Given the description of an element on the screen output the (x, y) to click on. 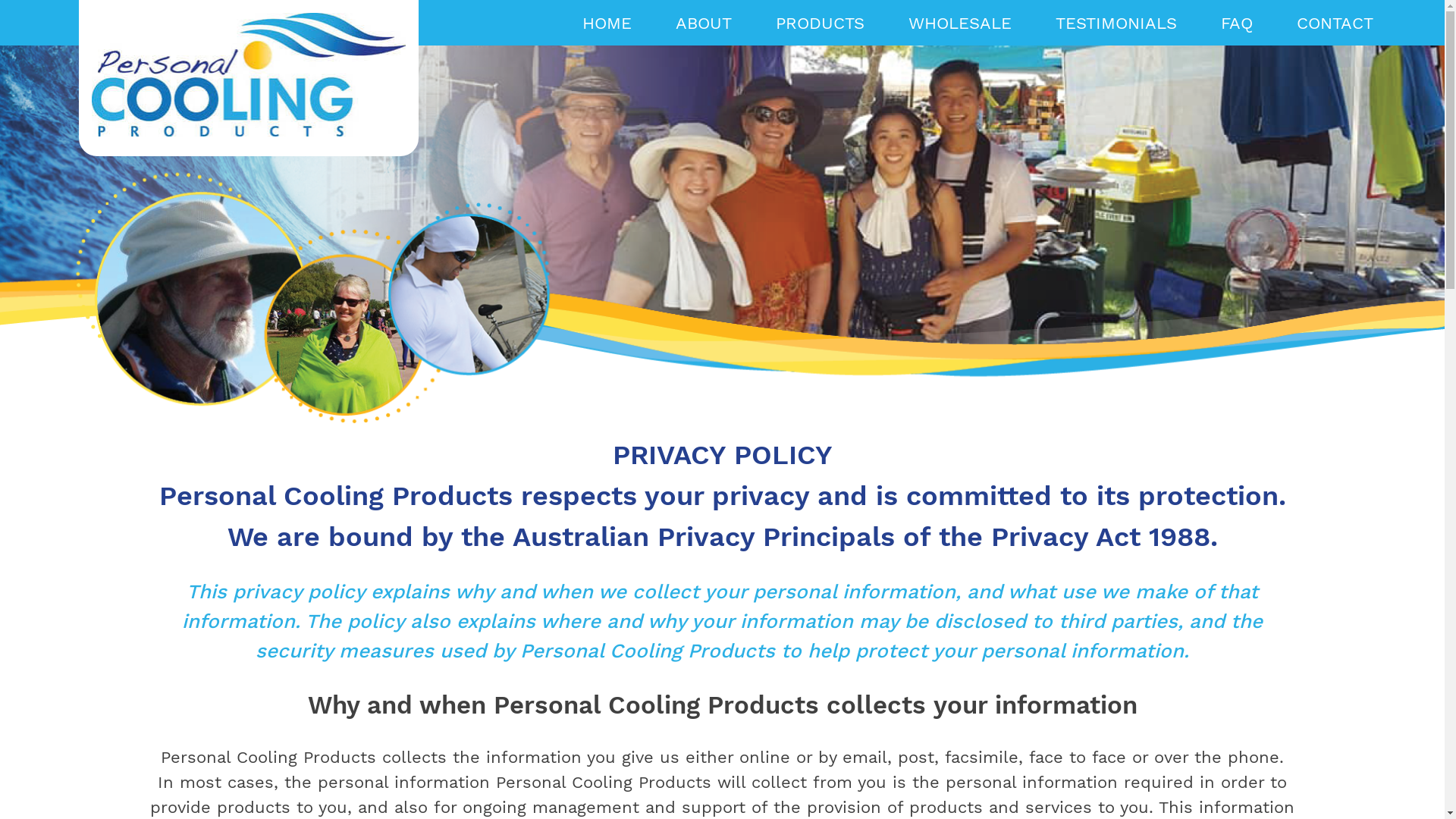
ABOUT Element type: text (703, 22)
TESTIMONIALS Element type: text (1115, 22)
Personal Cooling Products Element type: text (199, 172)
PRODUCTS Element type: text (819, 22)
CONTACT Element type: text (1334, 22)
FAQ Element type: text (1236, 22)
WHOLESALE Element type: text (959, 22)
HOME Element type: text (606, 22)
